Given the description of an element on the screen output the (x, y) to click on. 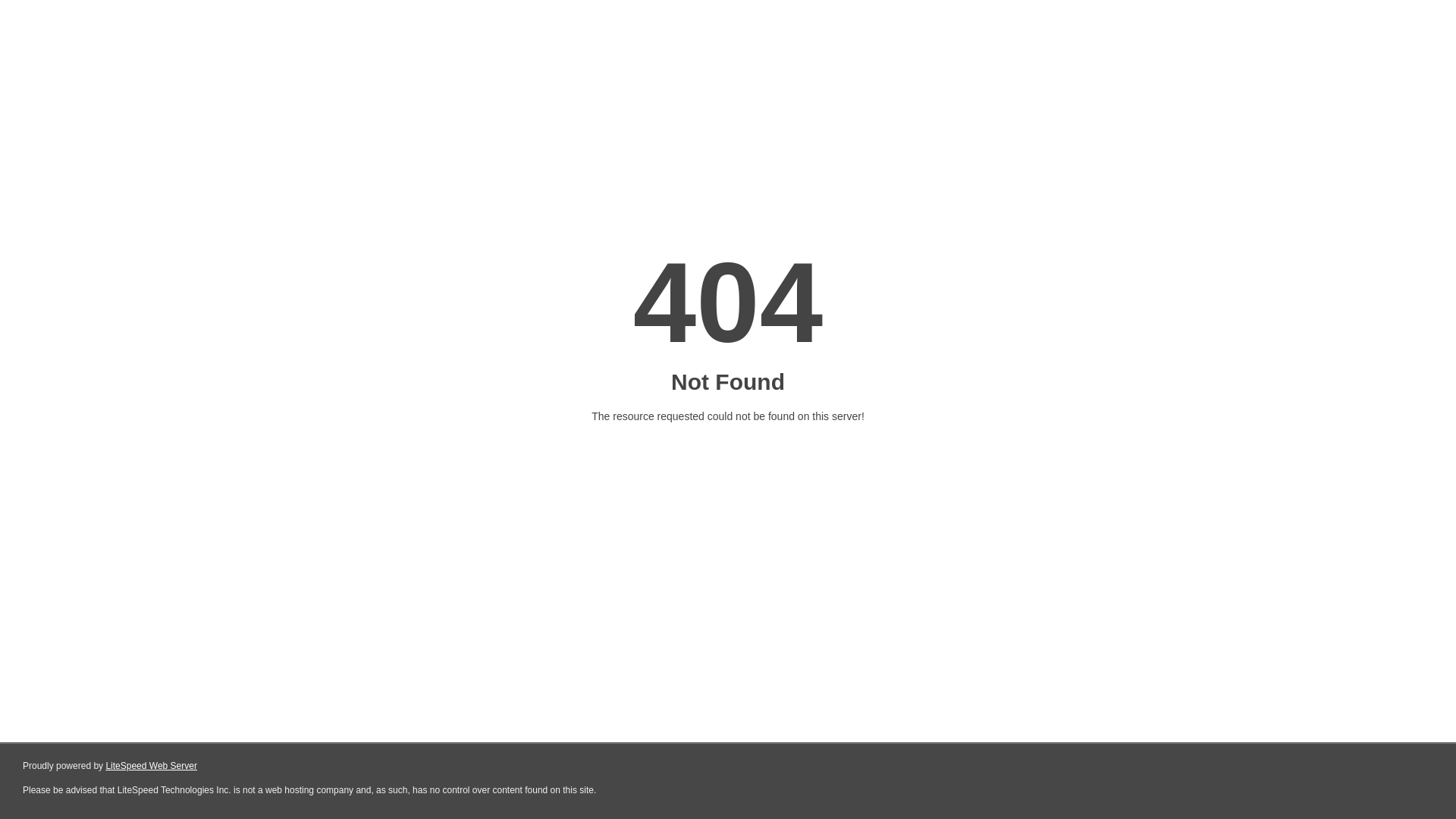
LiteSpeed Web Server Element type: text (151, 765)
